Given the description of an element on the screen output the (x, y) to click on. 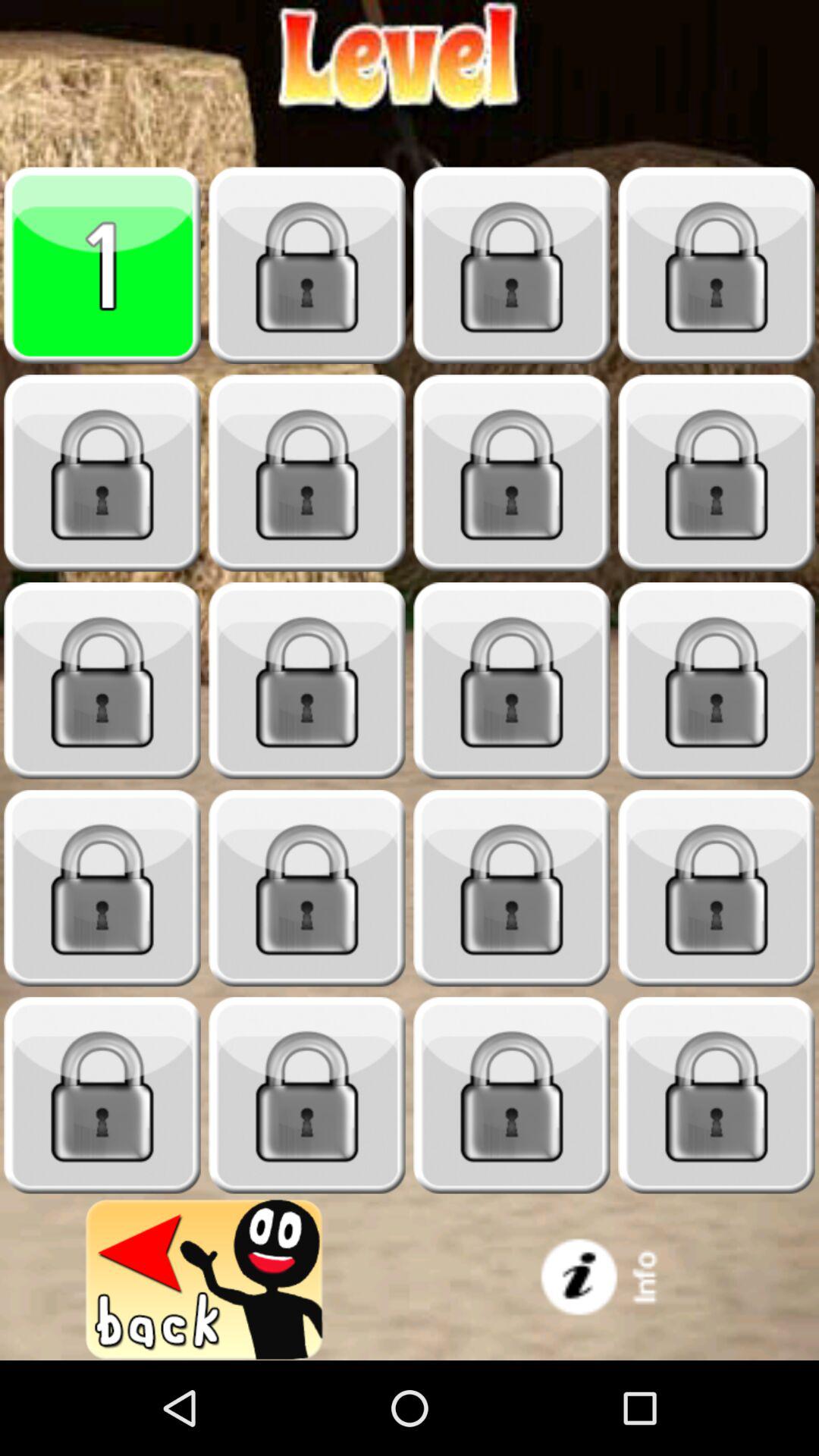
open level (716, 1094)
